Given the description of an element on the screen output the (x, y) to click on. 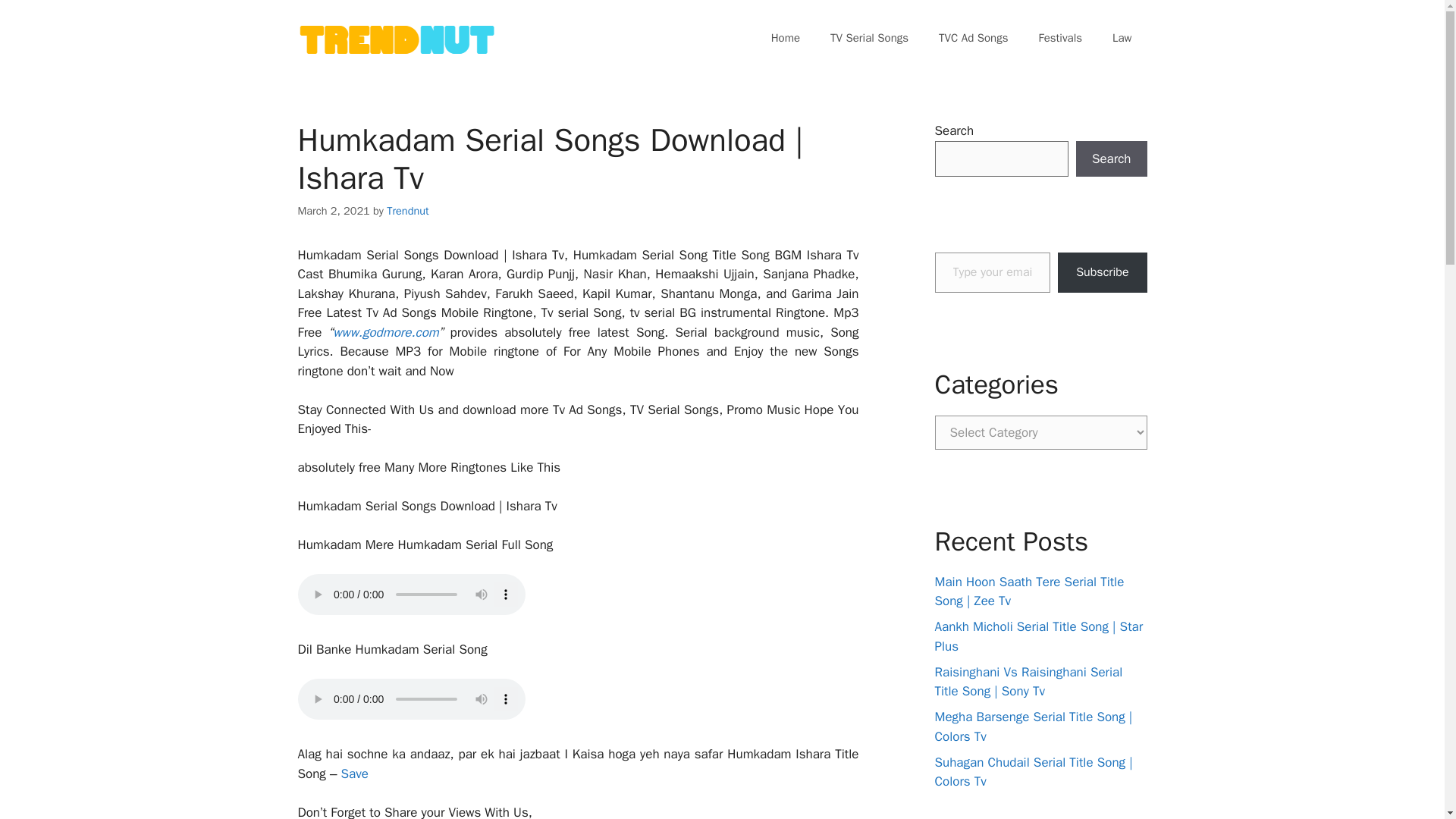
Save (354, 773)
Law (1122, 37)
www.godmore.com (386, 332)
Festivals (1060, 37)
Please fill in this field. (991, 272)
Home (785, 37)
View all posts by Trendnut (407, 210)
TVC Ad Songs (973, 37)
Trendnut (407, 210)
Search (1111, 158)
